Given the description of an element on the screen output the (x, y) to click on. 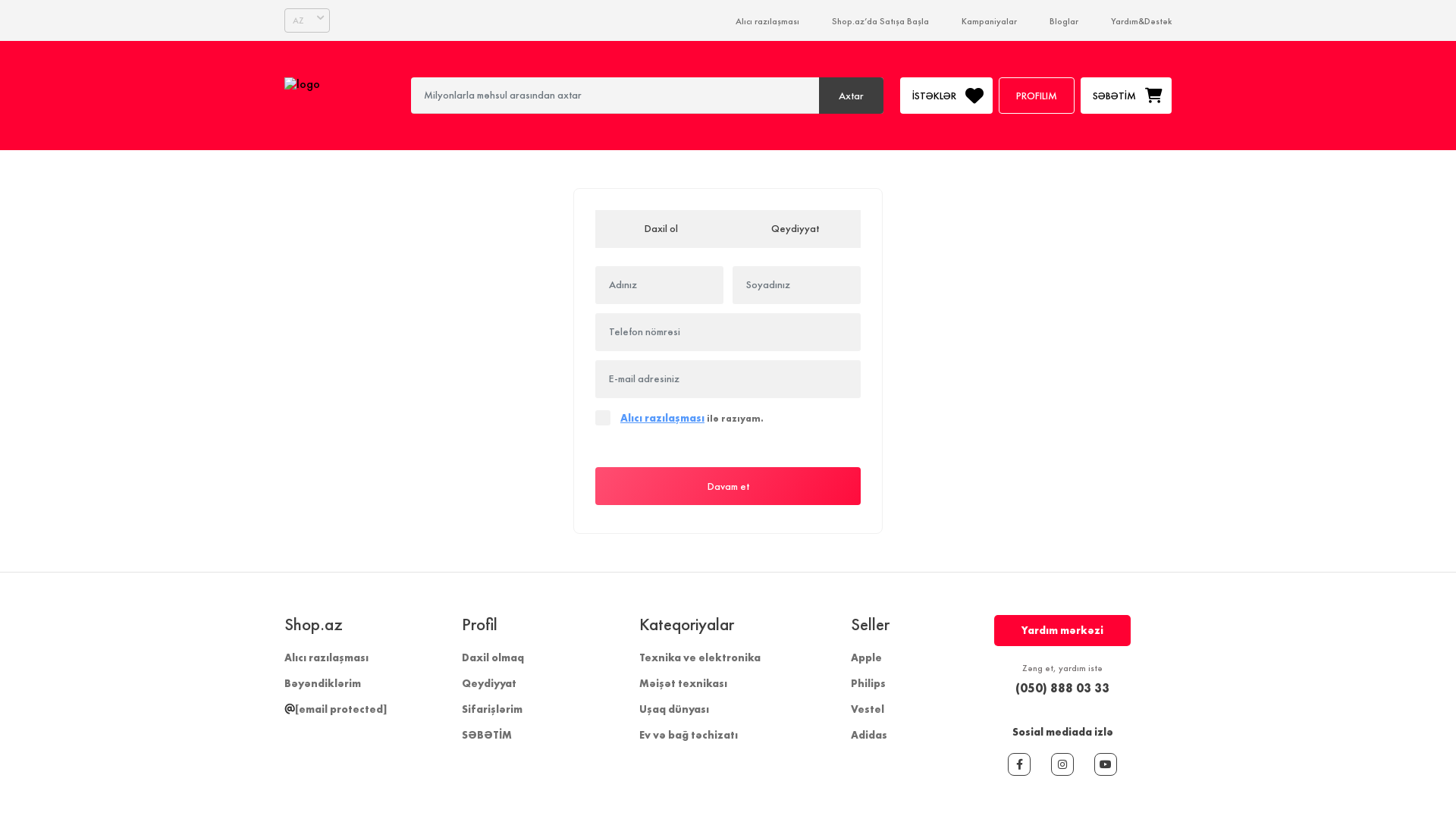
Apple Element type: text (865, 657)
Adidas Element type: text (868, 734)
Daxil ol Element type: text (660, 228)
(050) 888 03 33 Element type: text (1062, 687)
Qeydiyyat Element type: text (794, 228)
Texnika ve elektronika Element type: text (699, 657)
Qeydiyyat Element type: text (488, 682)
Kampaniyalar Element type: text (988, 20)
Daxil olmaq Element type: text (492, 657)
Bloglar Element type: text (1063, 20)
Philips Element type: text (867, 682)
Davam et Element type: text (727, 486)
[email protected] Element type: text (335, 708)
Vestel Element type: text (867, 708)
